Given the description of an element on the screen output the (x, y) to click on. 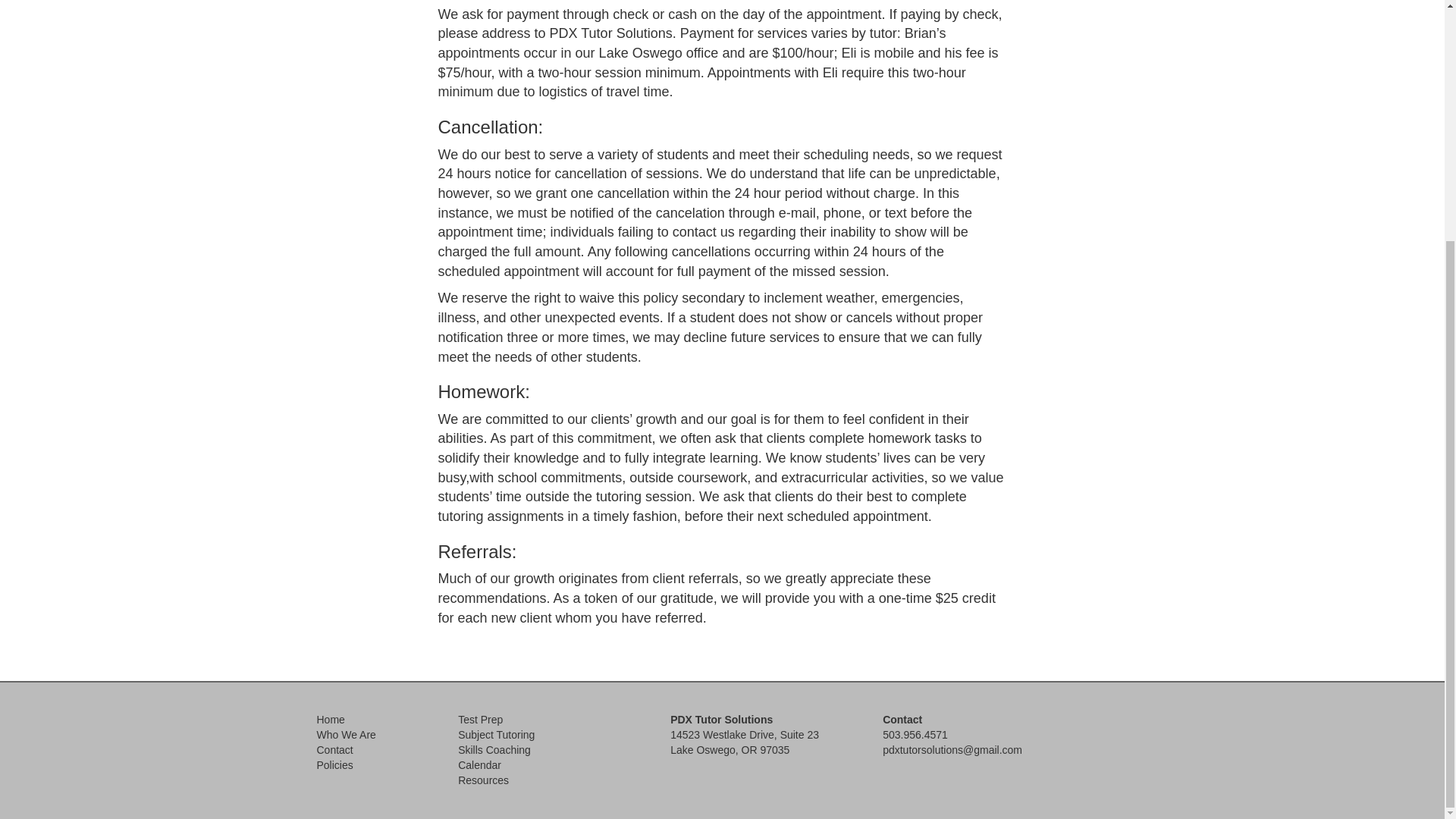
Policies (335, 765)
Resources (483, 779)
Calendar (479, 765)
Home (331, 719)
Contact (335, 749)
Test Prep (480, 719)
Skills Coaching (494, 749)
Subject Tutoring (496, 734)
Who We Are (346, 734)
